Given the description of an element on the screen output the (x, y) to click on. 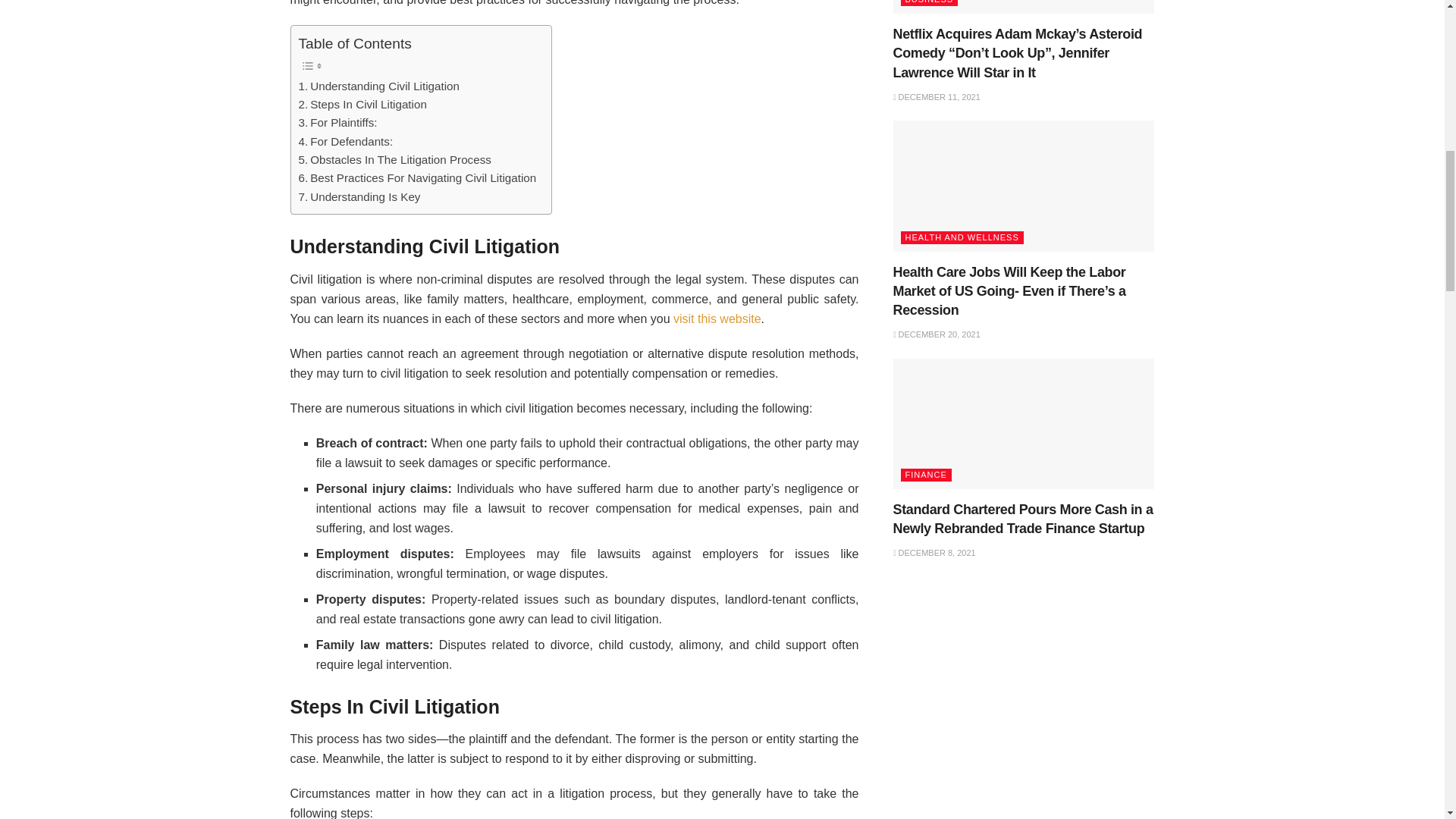
Best Practices For Navigating Civil Litigation (417, 177)
For Plaintiffs: (337, 122)
Obstacles In The Litigation Process (395, 159)
Understanding Civil Litigation (379, 85)
Obstacles In The Litigation Process (395, 159)
Understanding Civil Litigation (379, 85)
For Defendants: (345, 141)
For Plaintiffs: (337, 122)
For Defendants: (345, 141)
Steps In Civil Litigation (362, 104)
